Given the description of an element on the screen output the (x, y) to click on. 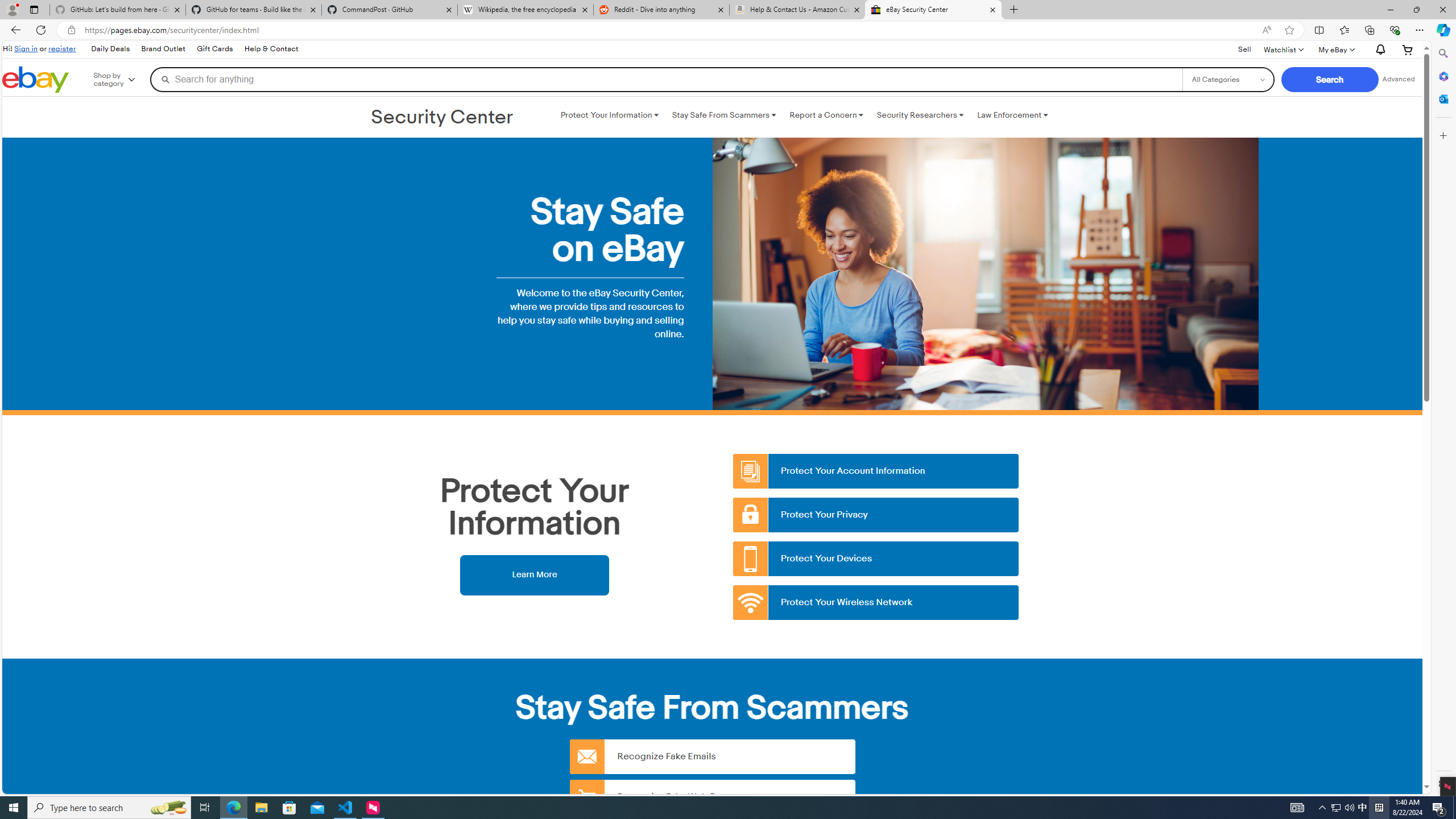
My eBayExpand My eBay (1335, 49)
Expand Cart (1407, 49)
Gift Cards (214, 49)
Stay Safe From Scammers  (723, 115)
Help & Contact (271, 49)
Help & Contact (270, 49)
Reddit - Dive into anything (660, 9)
WatchlistExpand Watch List (1282, 49)
